Given the description of an element on the screen output the (x, y) to click on. 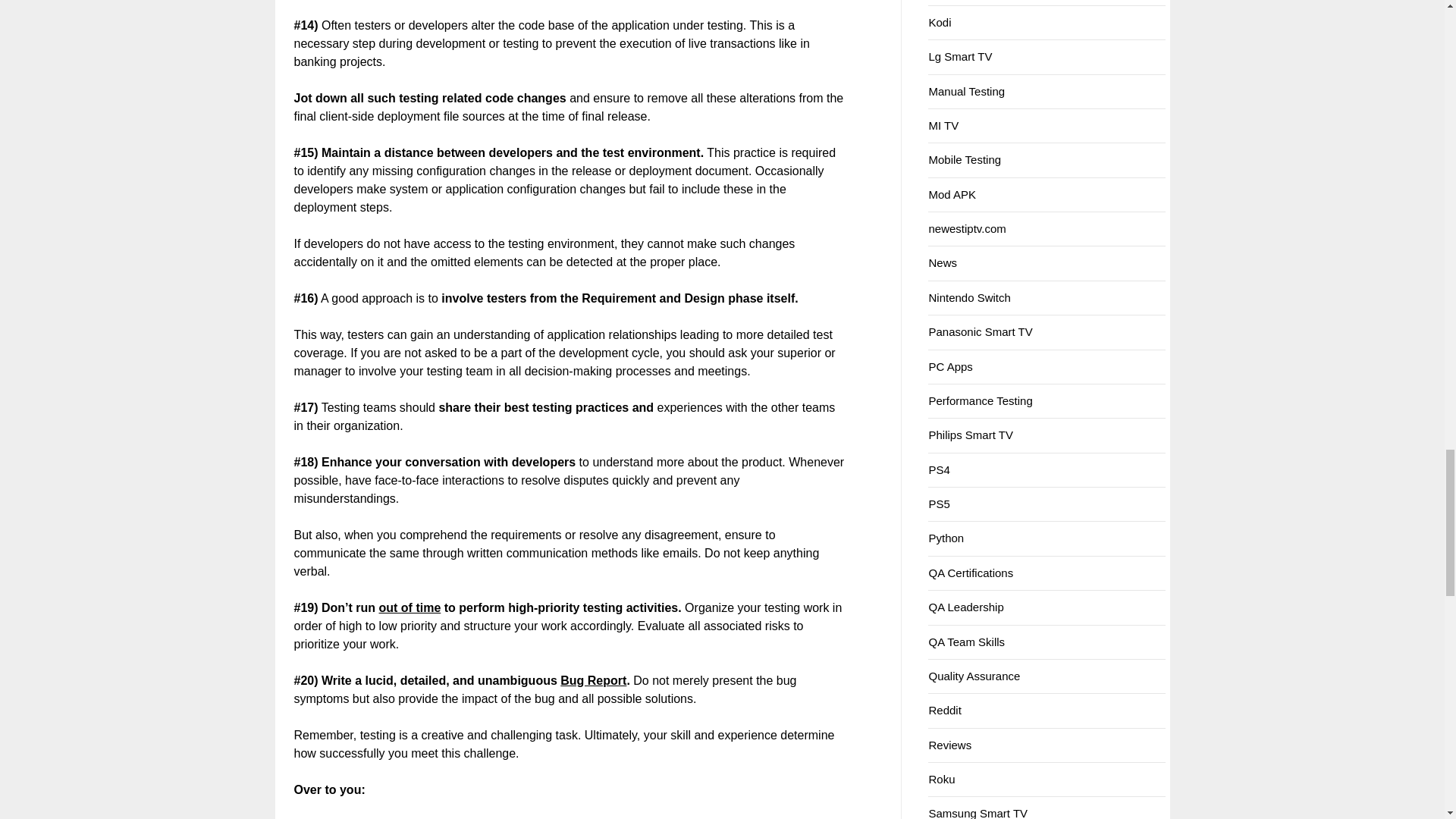
Bug Report (593, 680)
No enough time for testing? (409, 607)
out of time (409, 607)
